Given the description of an element on the screen output the (x, y) to click on. 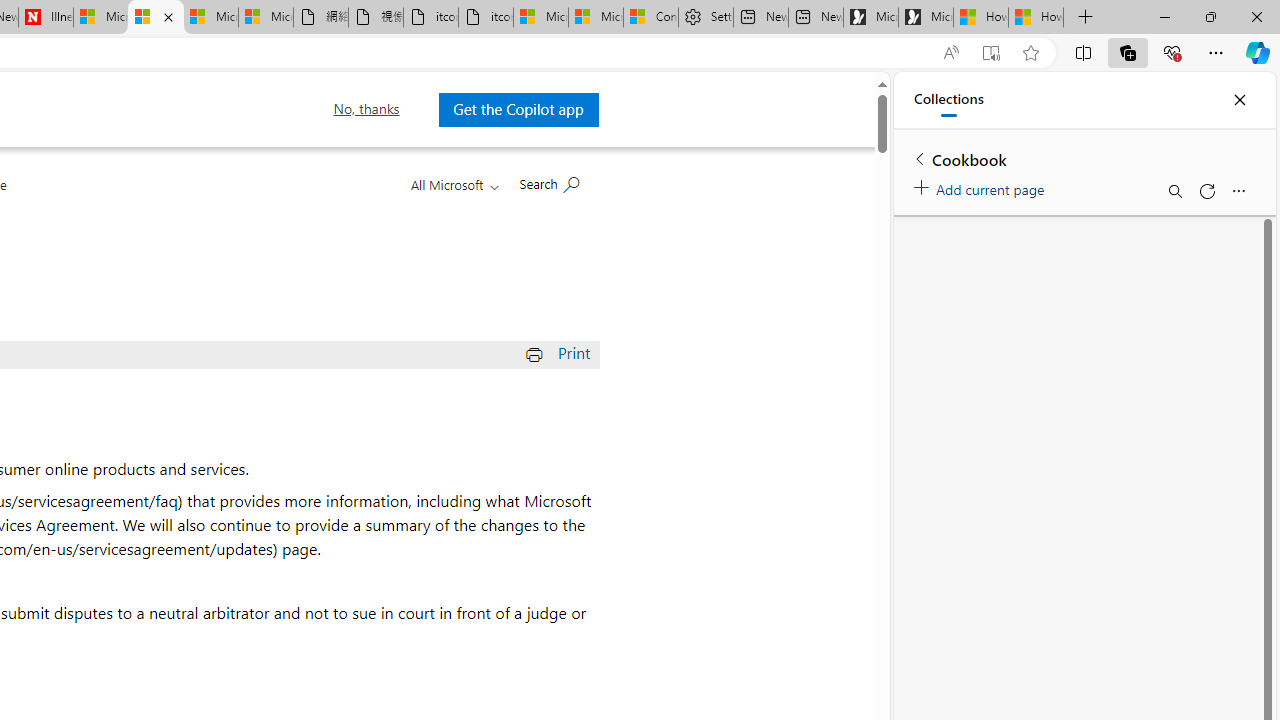
Enter Immersive Reader (F9) (991, 53)
More options menu (1238, 190)
Back to list of collections (920, 158)
